Given the description of an element on the screen output the (x, y) to click on. 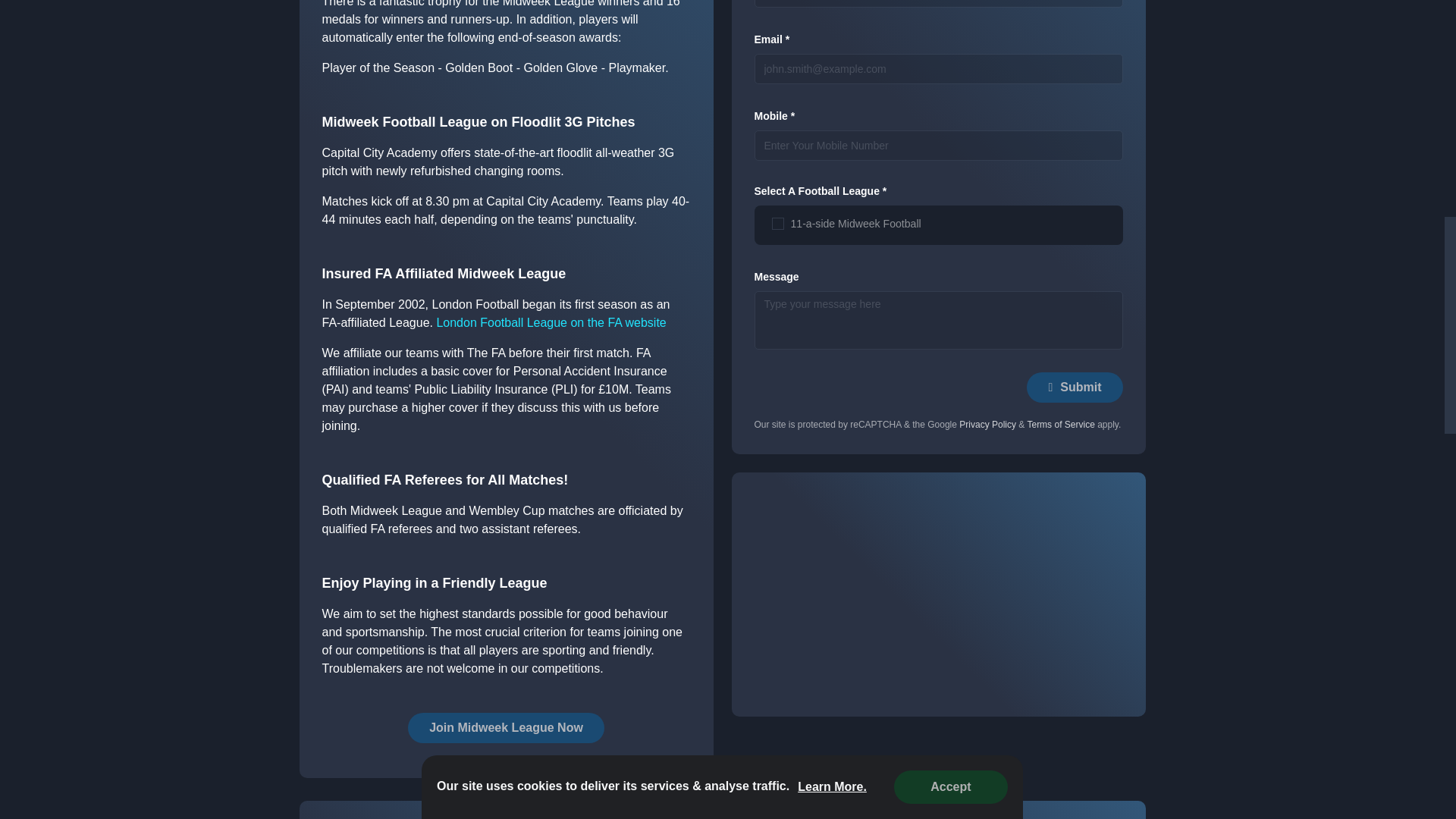
Terms of Service (1060, 424)
Submit (1074, 387)
Privacy Policy (987, 424)
View London Football League on the FA website (550, 322)
Join Midweek League Now (505, 727)
London Football League on the FA website (550, 322)
